Given the description of an element on the screen output the (x, y) to click on. 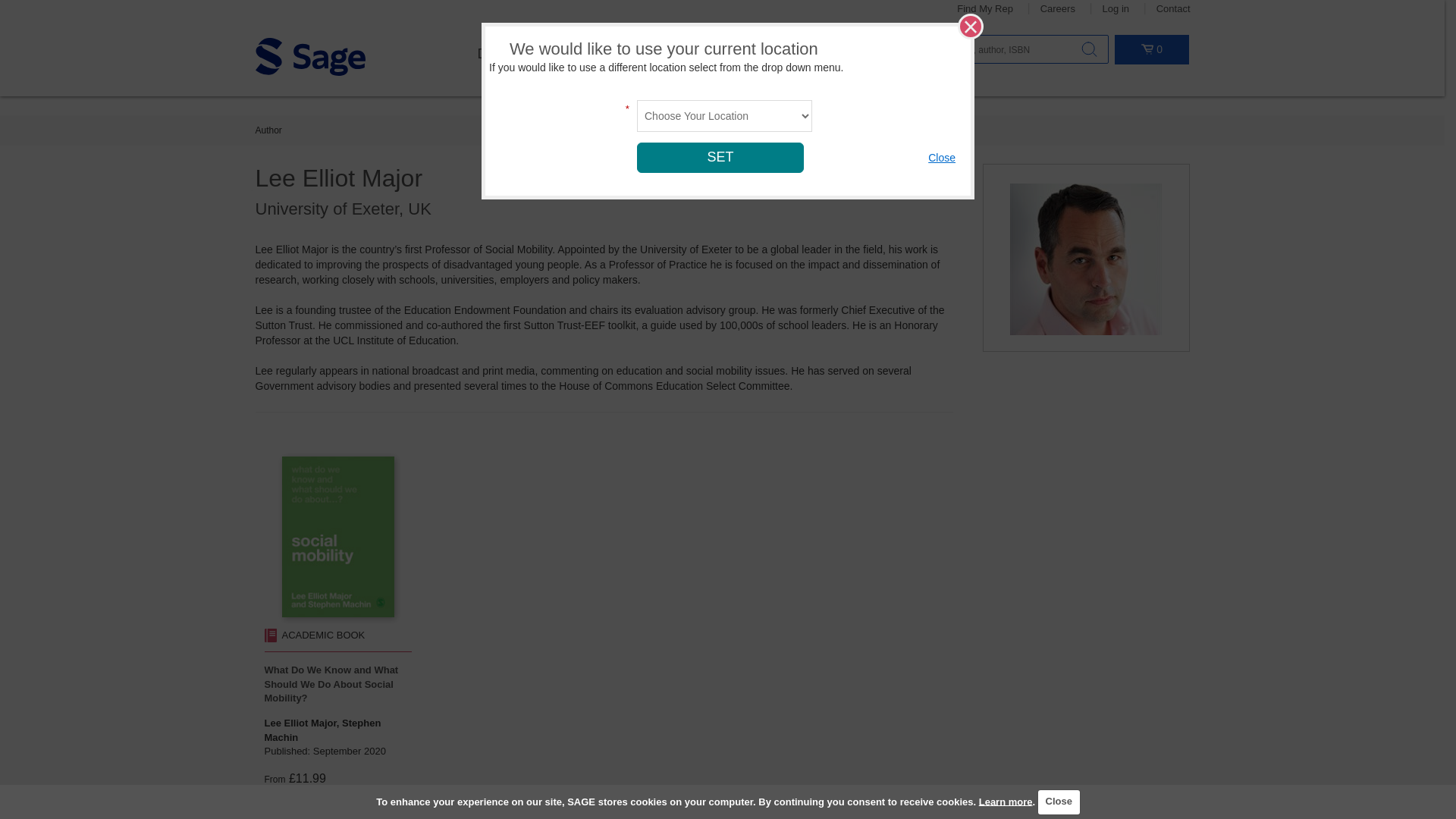
Search (1089, 48)
Find My Rep (984, 8)
Sage logo: link back to homepage (309, 56)
Log in (1115, 8)
Contact (1173, 8)
Careers (1058, 8)
Set (720, 157)
Sage: User login (1115, 8)
Disciplines (509, 53)
